Given the description of an element on the screen output the (x, y) to click on. 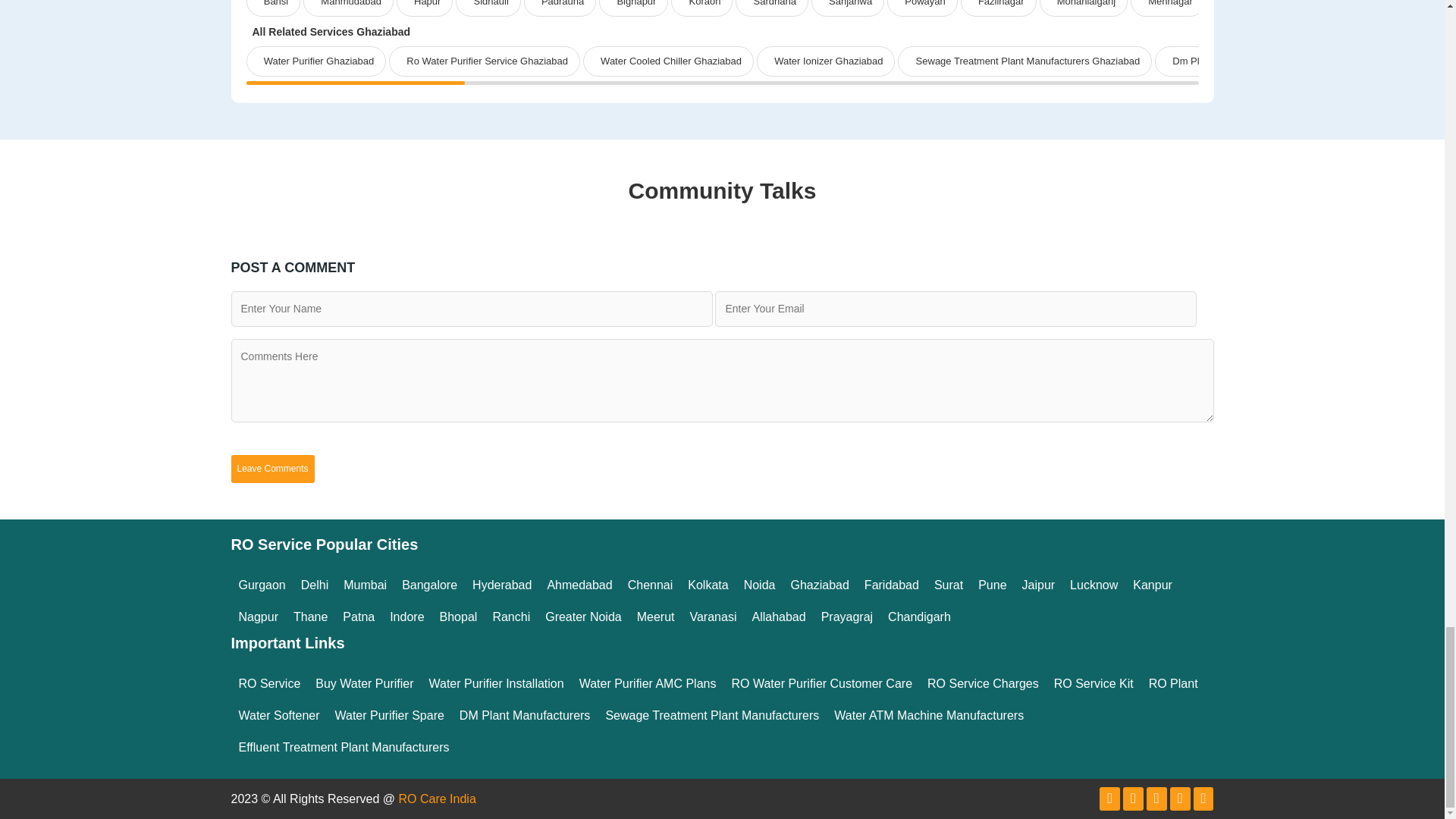
Leave Comments (272, 469)
